Given the description of an element on the screen output the (x, y) to click on. 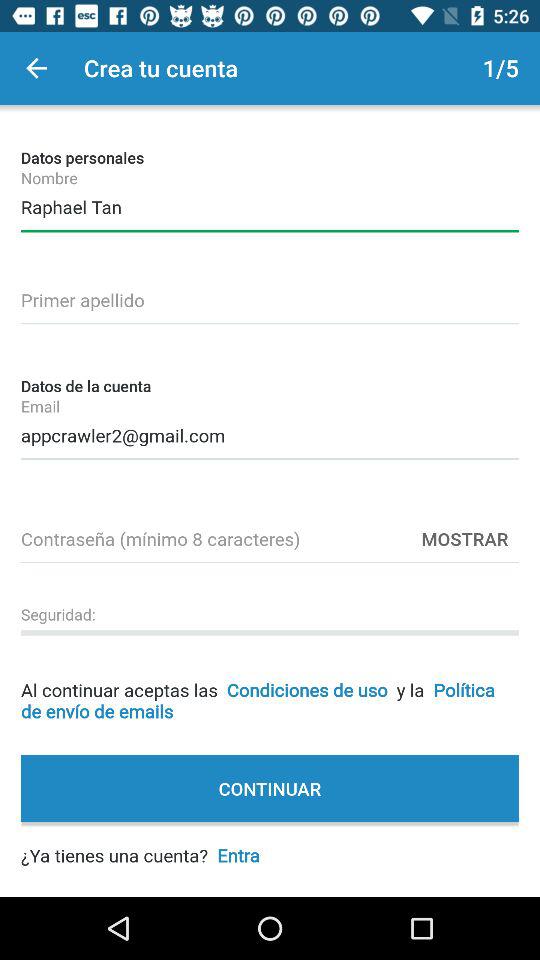
launch the item above the continuar item (270, 684)
